Given the description of an element on the screen output the (x, y) to click on. 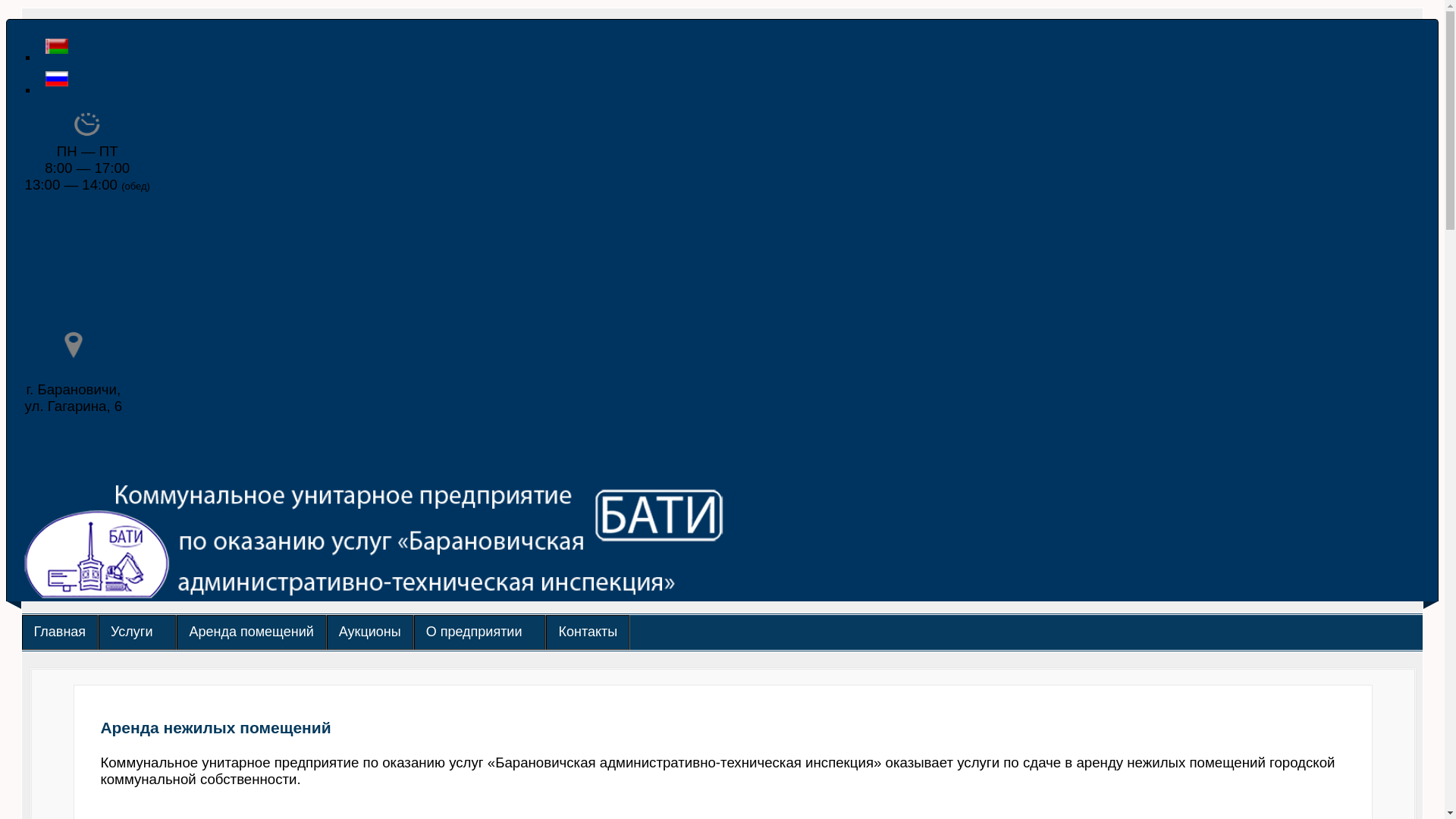
Belarusian (Belarus) Element type: hover (56, 45)
Russian (Russia) Element type: hover (56, 78)
